Given the description of an element on the screen output the (x, y) to click on. 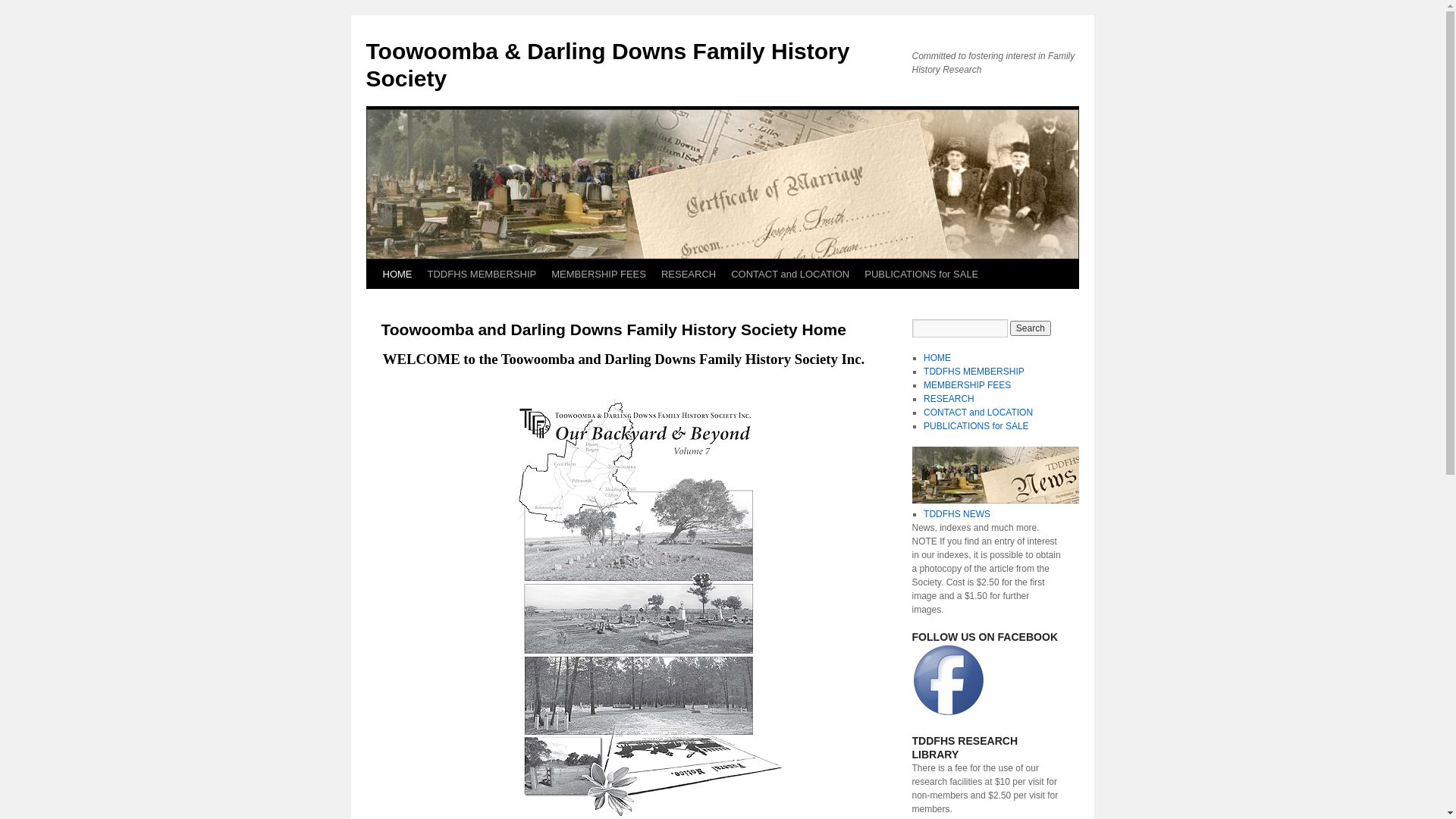
TDDFHS MEMBERSHIP Element type: text (482, 274)
RESEARCH Element type: text (948, 398)
PUBLICATIONS for SALE Element type: text (920, 274)
RESEARCH Element type: text (688, 274)
MEMBERSHIP FEES Element type: text (598, 274)
CONTACT and LOCATION Element type: text (789, 274)
Search Element type: text (1030, 327)
CONTACT and LOCATION Element type: text (977, 412)
HOME Element type: text (936, 357)
PUBLICATIONS for SALE Element type: text (976, 425)
TDDFHS NEWS Element type: text (956, 513)
TDDFHS MEMBERSHIP Element type: text (973, 371)
HOME Element type: text (396, 274)
Toowoomba & Darling Downs Family History Society Element type: text (607, 64)
MEMBERSHIP FEES Element type: text (966, 384)
